Given the description of an element on the screen output the (x, y) to click on. 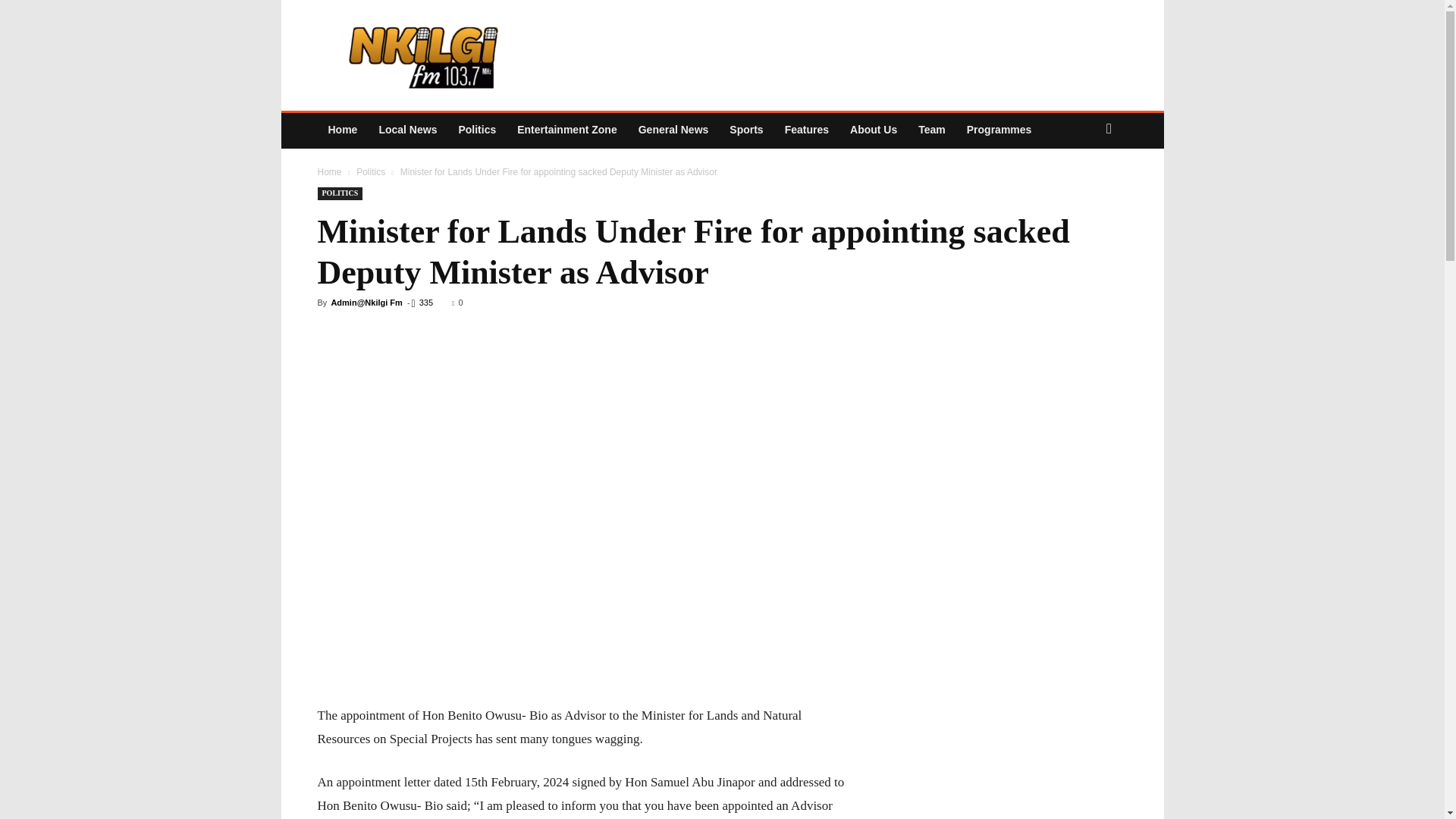
Team (931, 129)
View all posts in Politics (370, 172)
POLITICS (339, 193)
Home (328, 172)
Politics (476, 129)
Politics (370, 172)
Entertainment Zone (566, 129)
Search (1080, 189)
0 (457, 302)
About Us (873, 129)
